Given the description of an element on the screen output the (x, y) to click on. 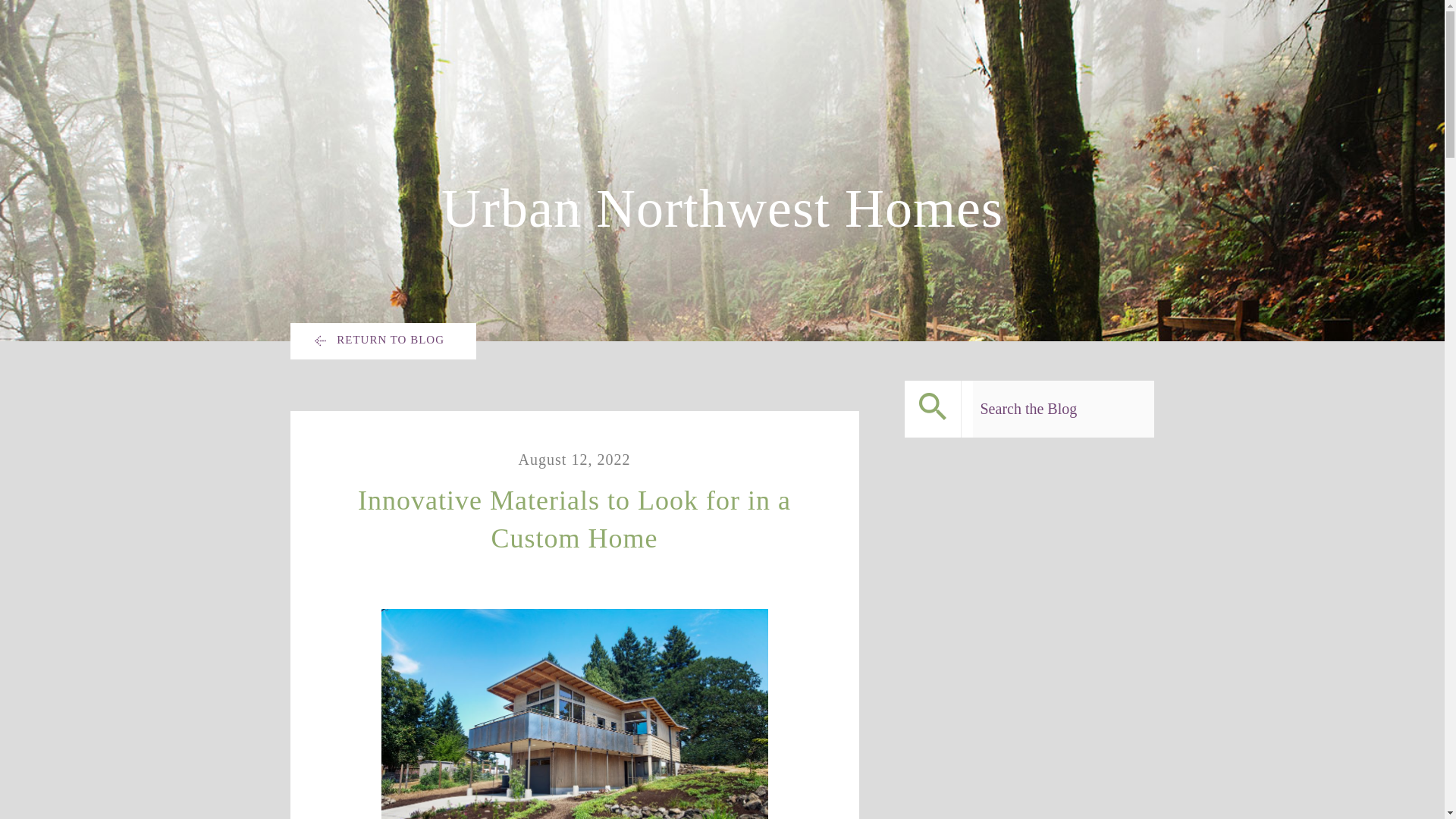
RETURN TO BLOG (382, 340)
Urban Northwest Homes (722, 208)
Search for: (1063, 408)
